Given the description of an element on the screen output the (x, y) to click on. 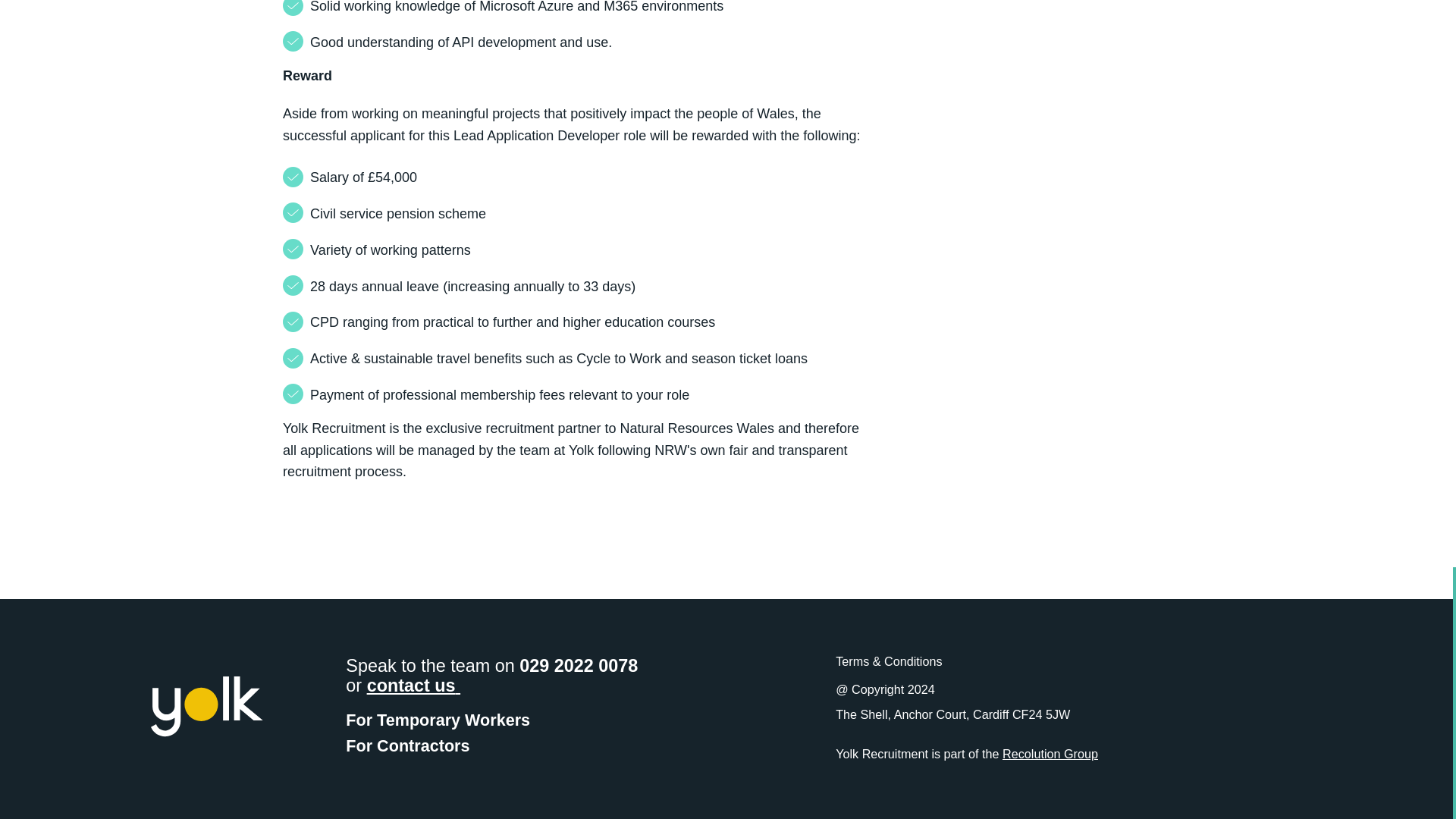
contact us  (413, 685)
For Contractors (407, 745)
For Temporary Workers (437, 719)
